Given the description of an element on the screen output the (x, y) to click on. 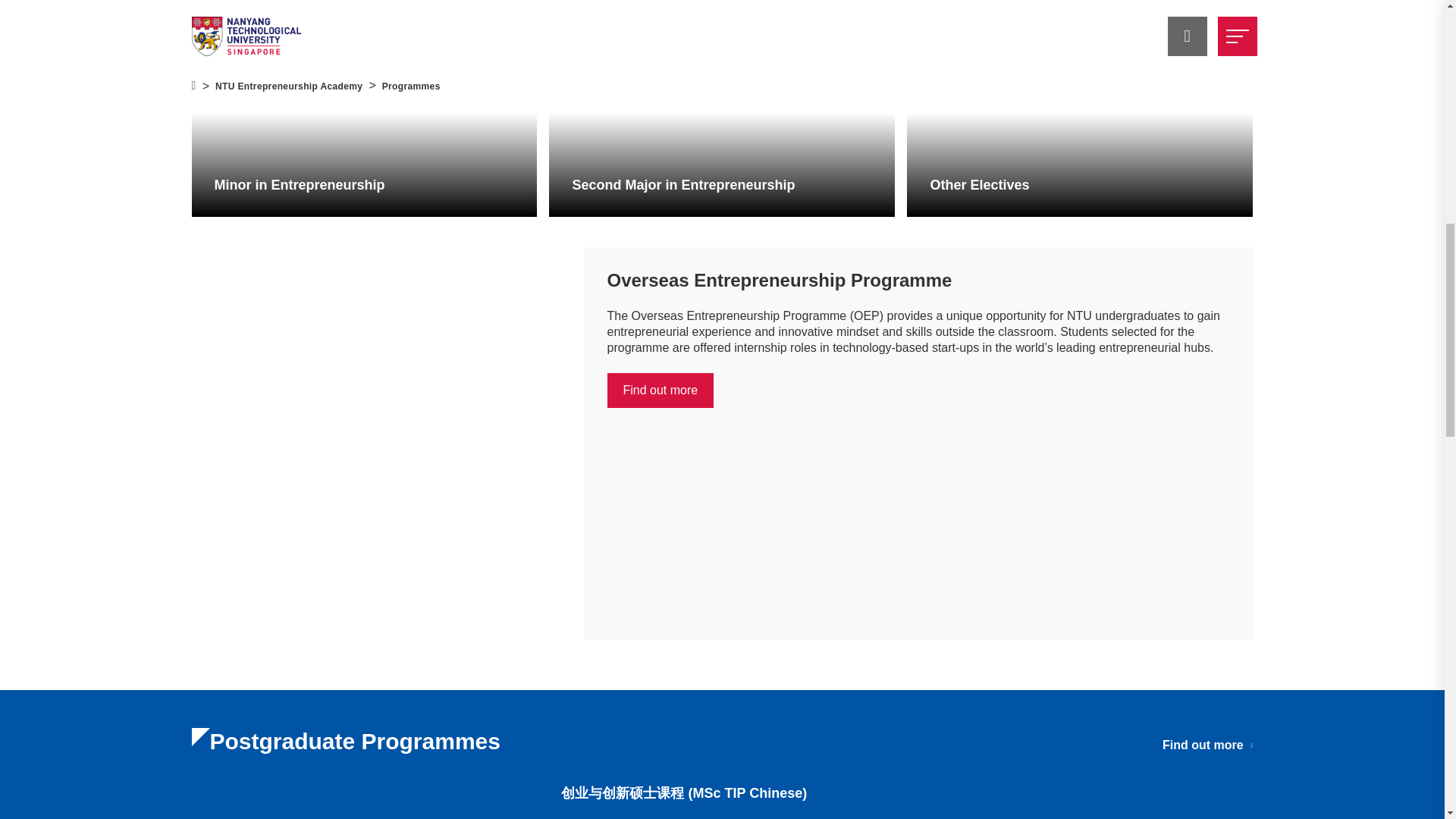
Find out more (1207, 745)
Find out more (660, 390)
Minor in Entrepreneurship (363, 113)
Other Electives (1079, 113)
Second Major in Entrepreneurship (721, 113)
